Given the description of an element on the screen output the (x, y) to click on. 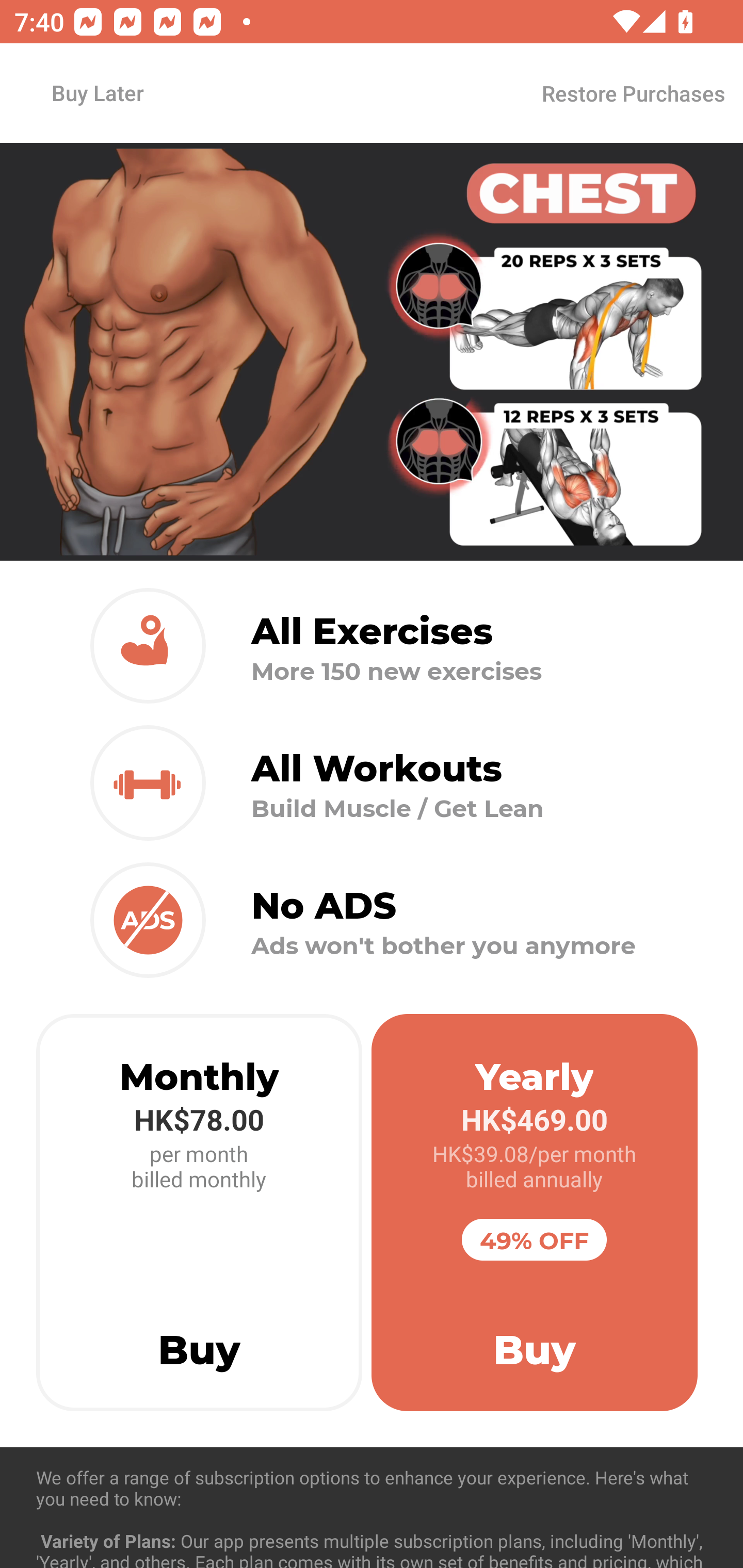
Restore Purchases (632, 92)
Buy Later (96, 92)
Monthly HK$78.00 per month
billed monthly Buy (199, 1212)
